Given the description of an element on the screen output the (x, y) to click on. 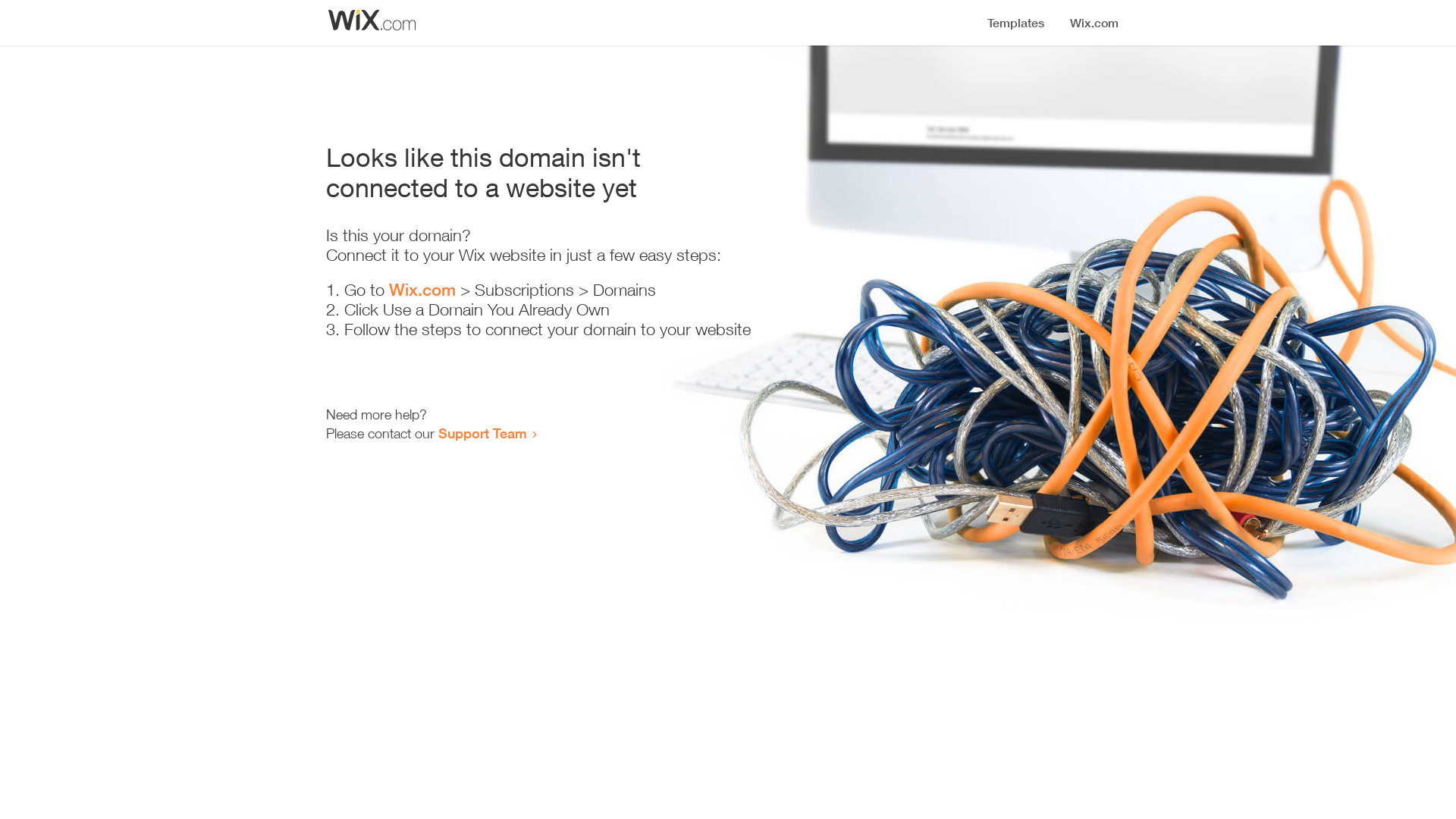
Wix.com Element type: text (422, 289)
Support Team Element type: text (482, 432)
